Given the description of an element on the screen output the (x, y) to click on. 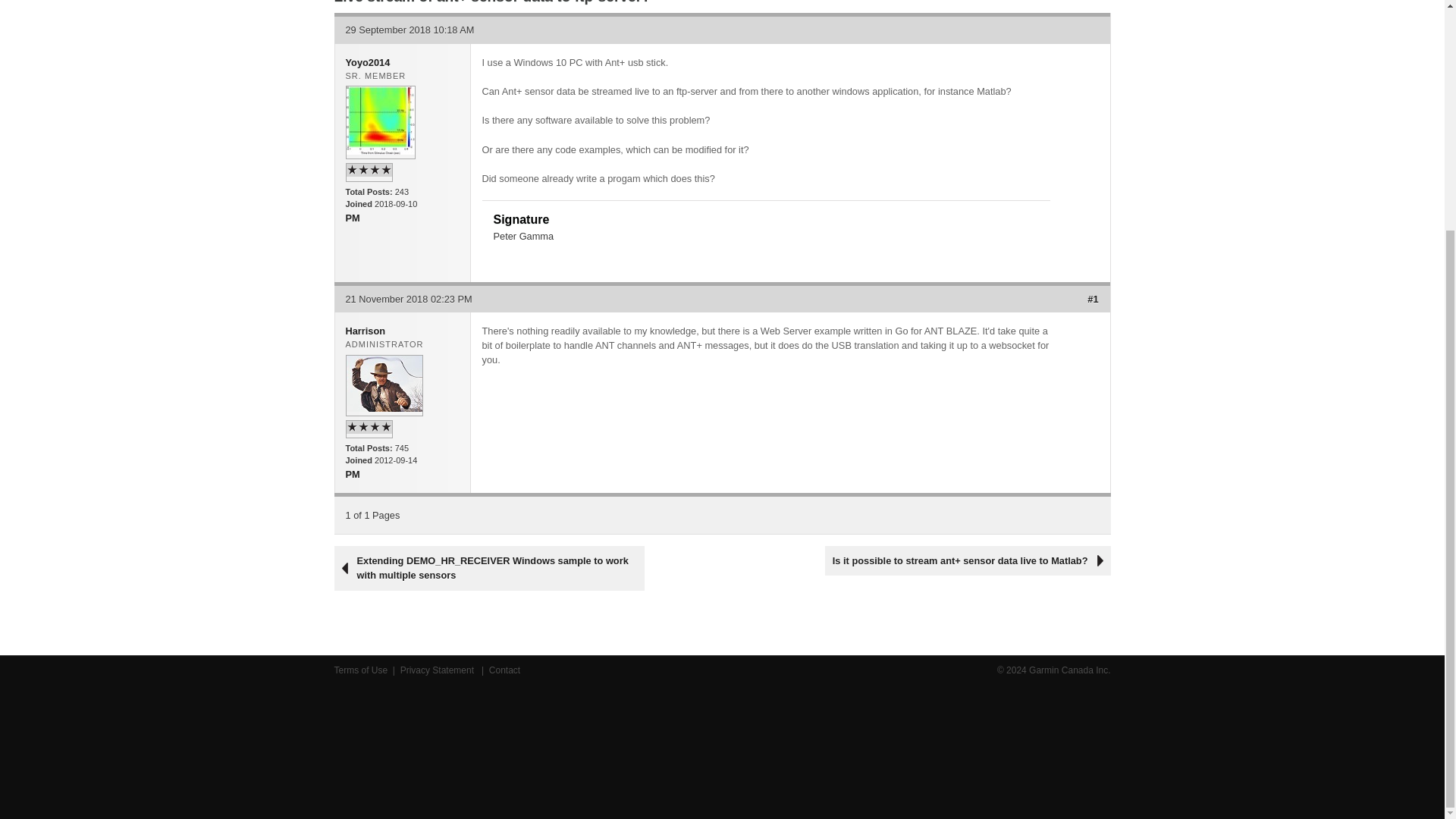
Permalink to this post (1092, 298)
